Given the description of an element on the screen output the (x, y) to click on. 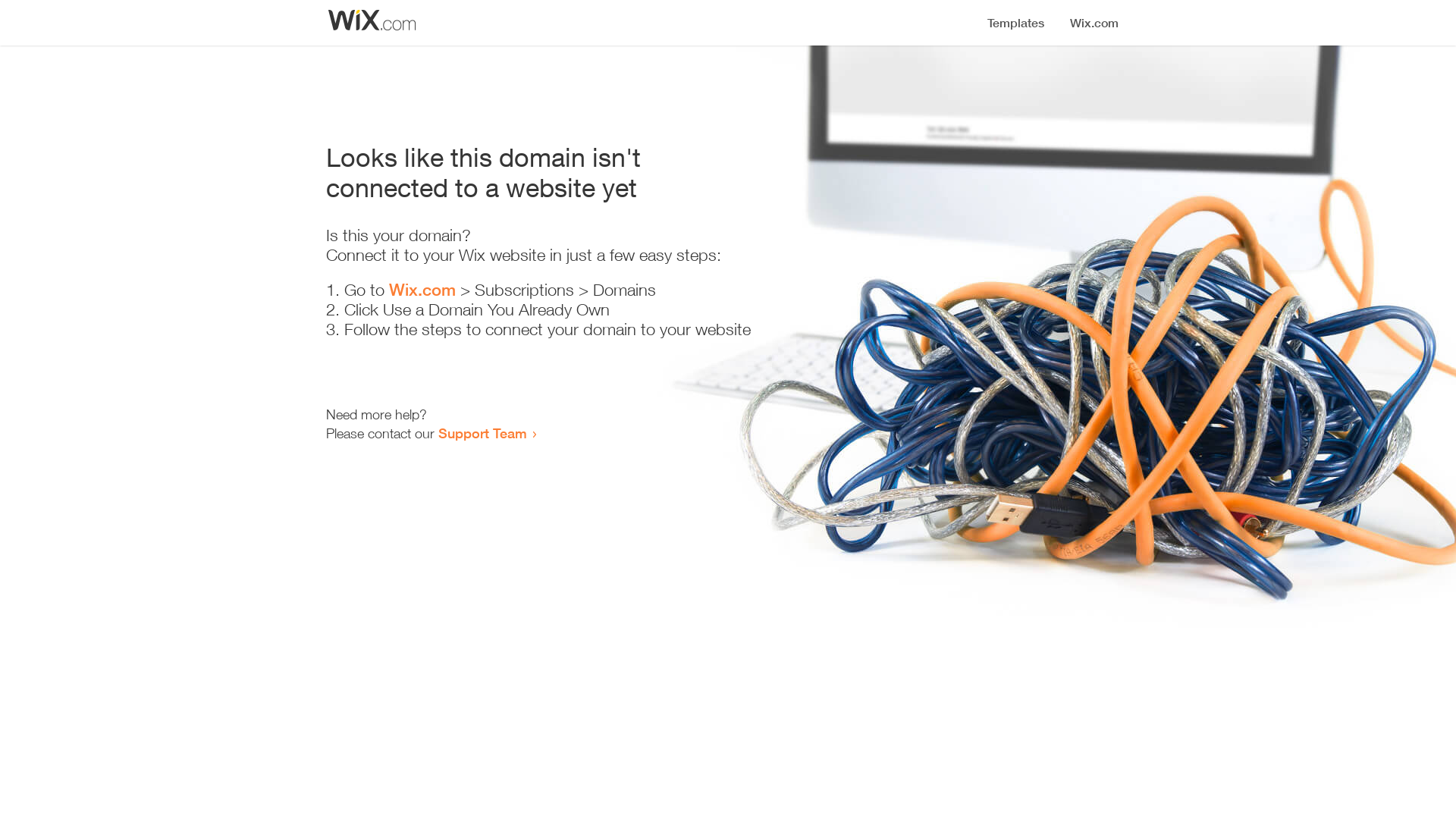
Wix.com Element type: text (422, 289)
Support Team Element type: text (482, 432)
